Given the description of an element on the screen output the (x, y) to click on. 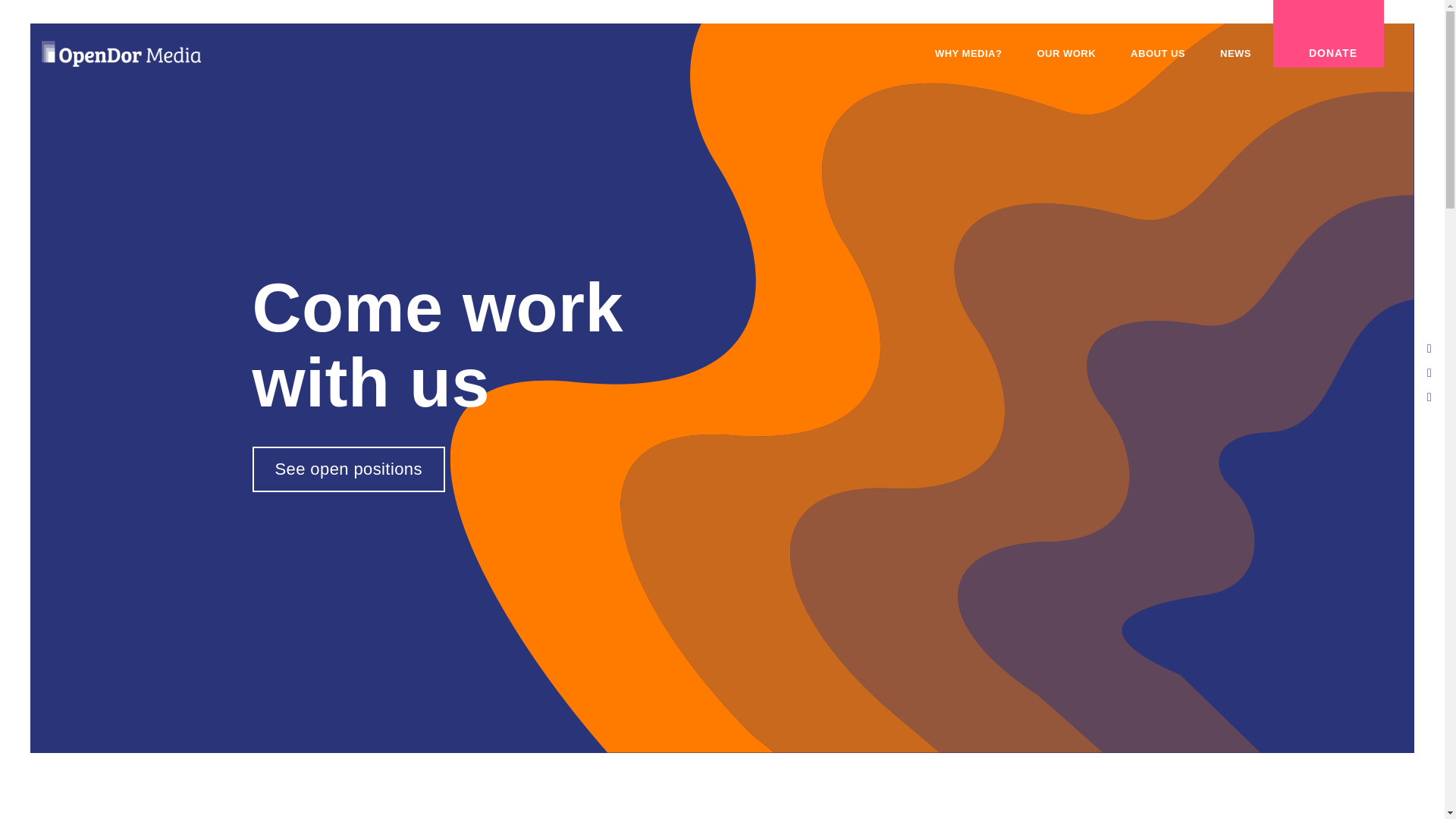
DONATE (1328, 33)
OUR WORK (1066, 53)
NEWS (1235, 53)
WHY MEDIA? (968, 53)
ABOUT US (1157, 53)
